Given the description of an element on the screen output the (x, y) to click on. 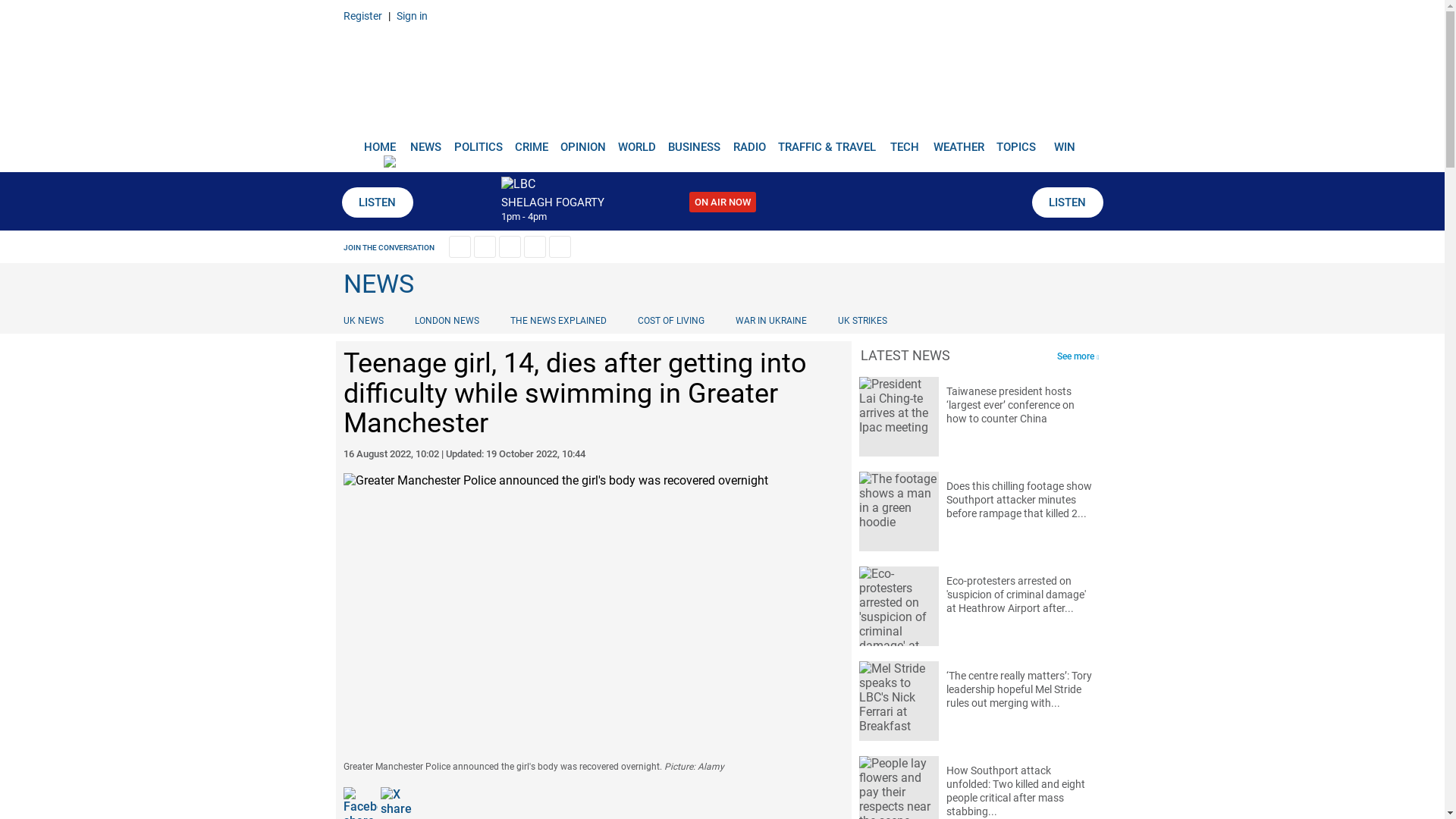
HOME (379, 140)
OPINION (582, 140)
Register (361, 15)
LBC (722, 77)
RADIO (748, 140)
UK NEWS (365, 320)
SHELAGH FOGARTY (552, 202)
NEWS (425, 140)
BUSINESS (694, 140)
POLITICS (478, 140)
LISTEN (1066, 202)
COST OF LIVING (670, 320)
WAR IN UKRAINE (770, 320)
UK STRIKES (862, 320)
WORLD (636, 140)
